Given the description of an element on the screen output the (x, y) to click on. 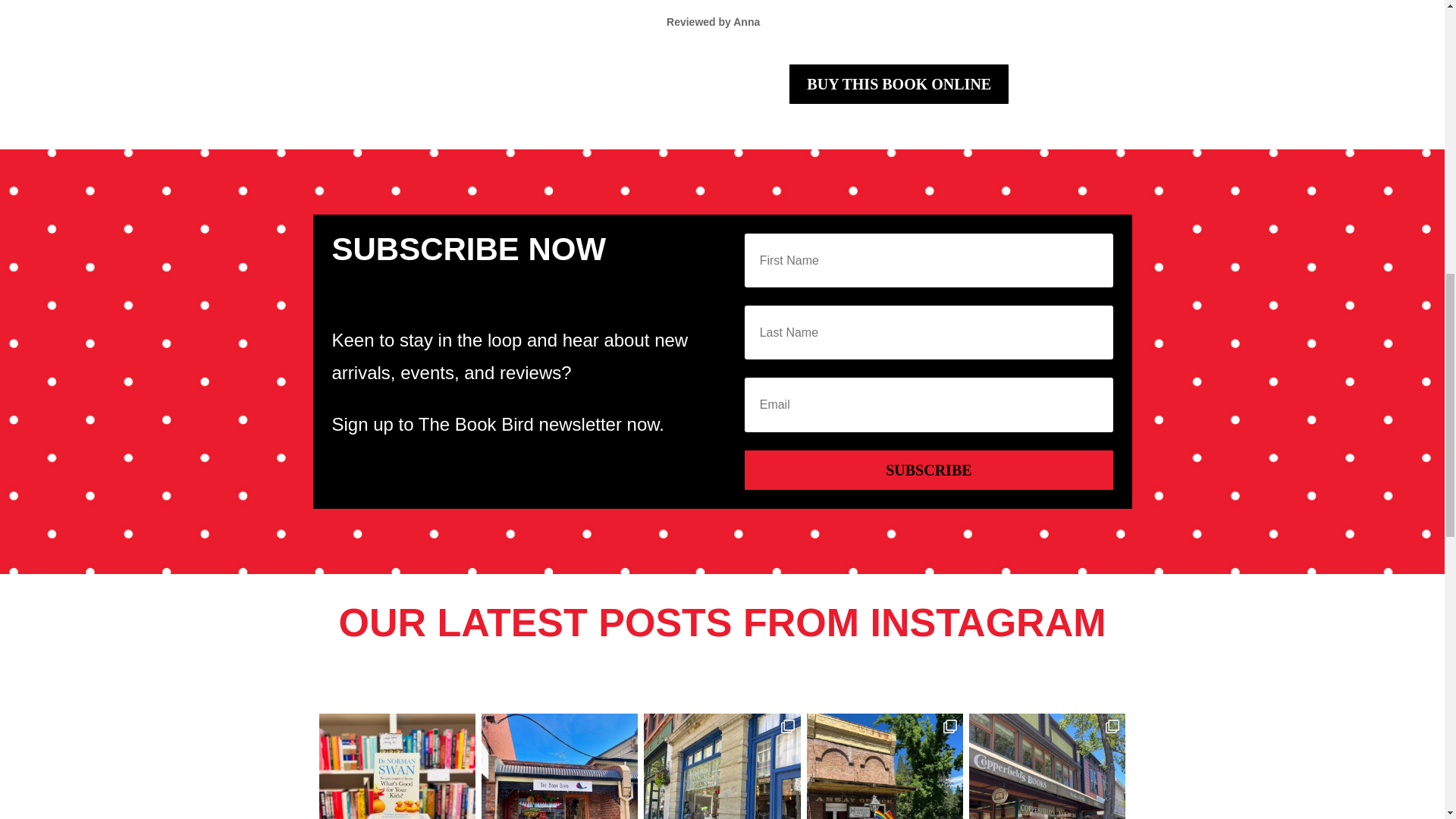
BUY THIS BOOK ONLINE (899, 84)
SUBSCRIBE (928, 469)
A quick flight to Seattle in order to see the emer (721, 766)
Only a few more days to book your seat at our even (396, 766)
